Given the description of an element on the screen output the (x, y) to click on. 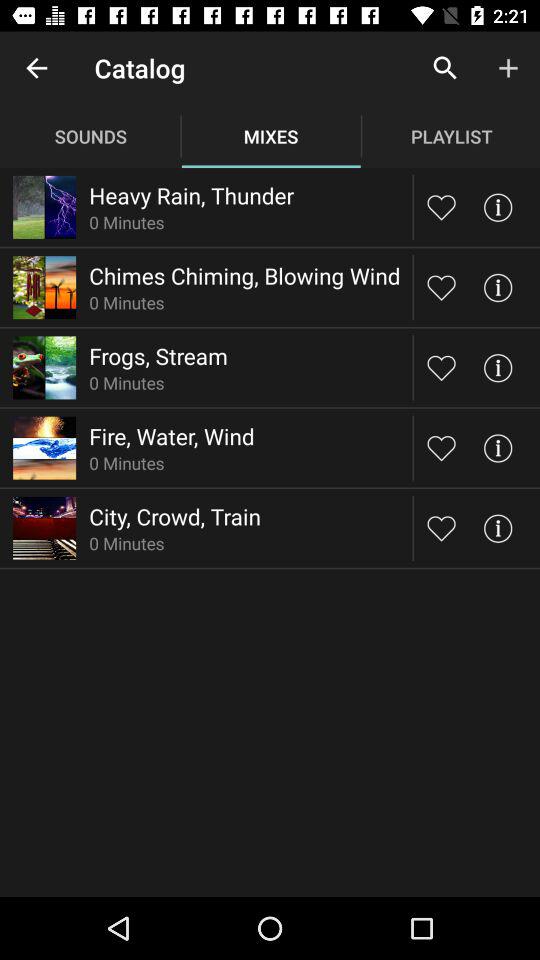
click information (498, 287)
